Given the description of an element on the screen output the (x, y) to click on. 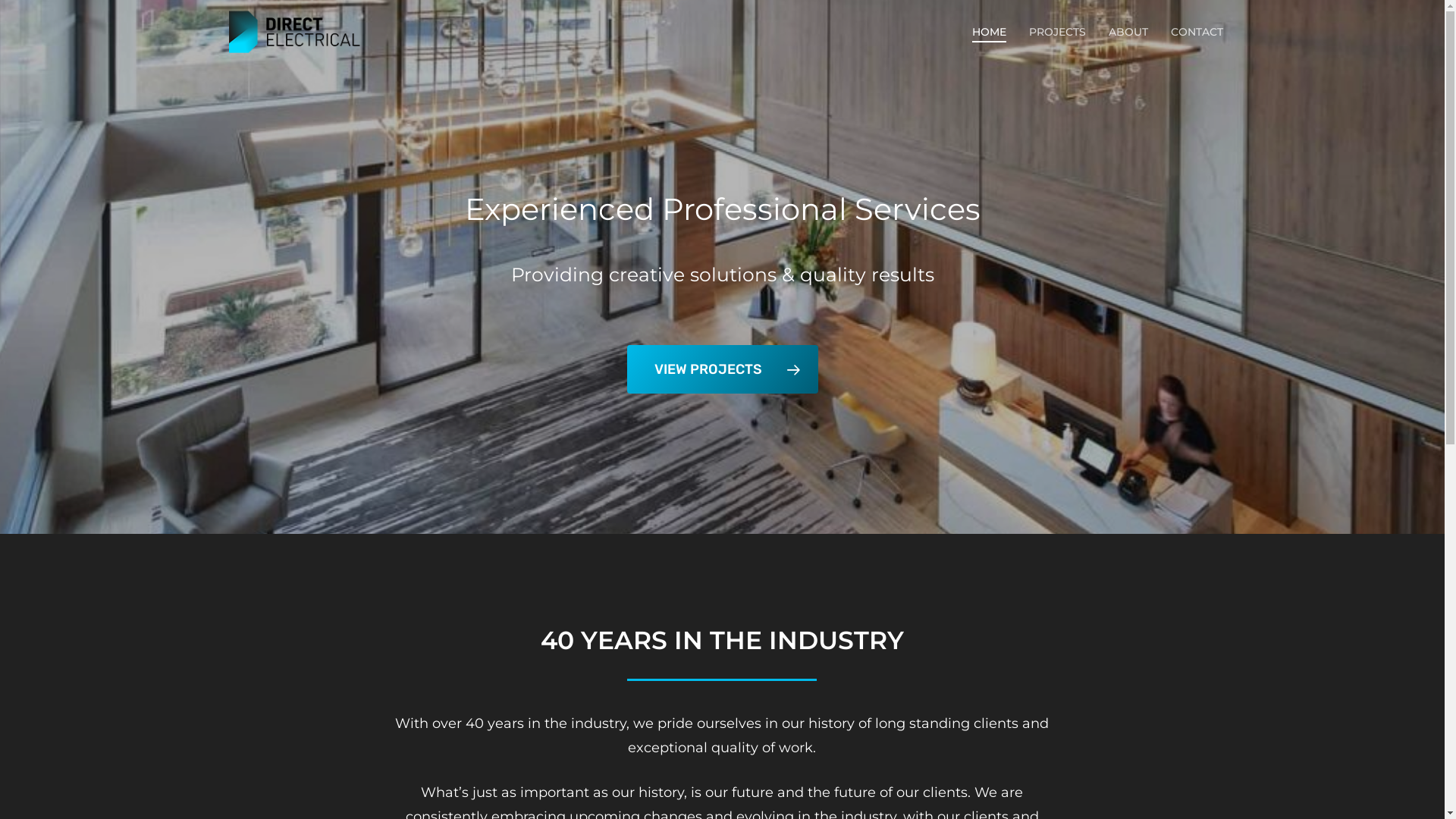
CONTACT Element type: text (1196, 32)
HOME Element type: text (989, 32)
PROJECTS Element type: text (1056, 32)
VIEW PROJECTS Element type: text (721, 369)
ABOUT Element type: text (1128, 32)
